Given the description of an element on the screen output the (x, y) to click on. 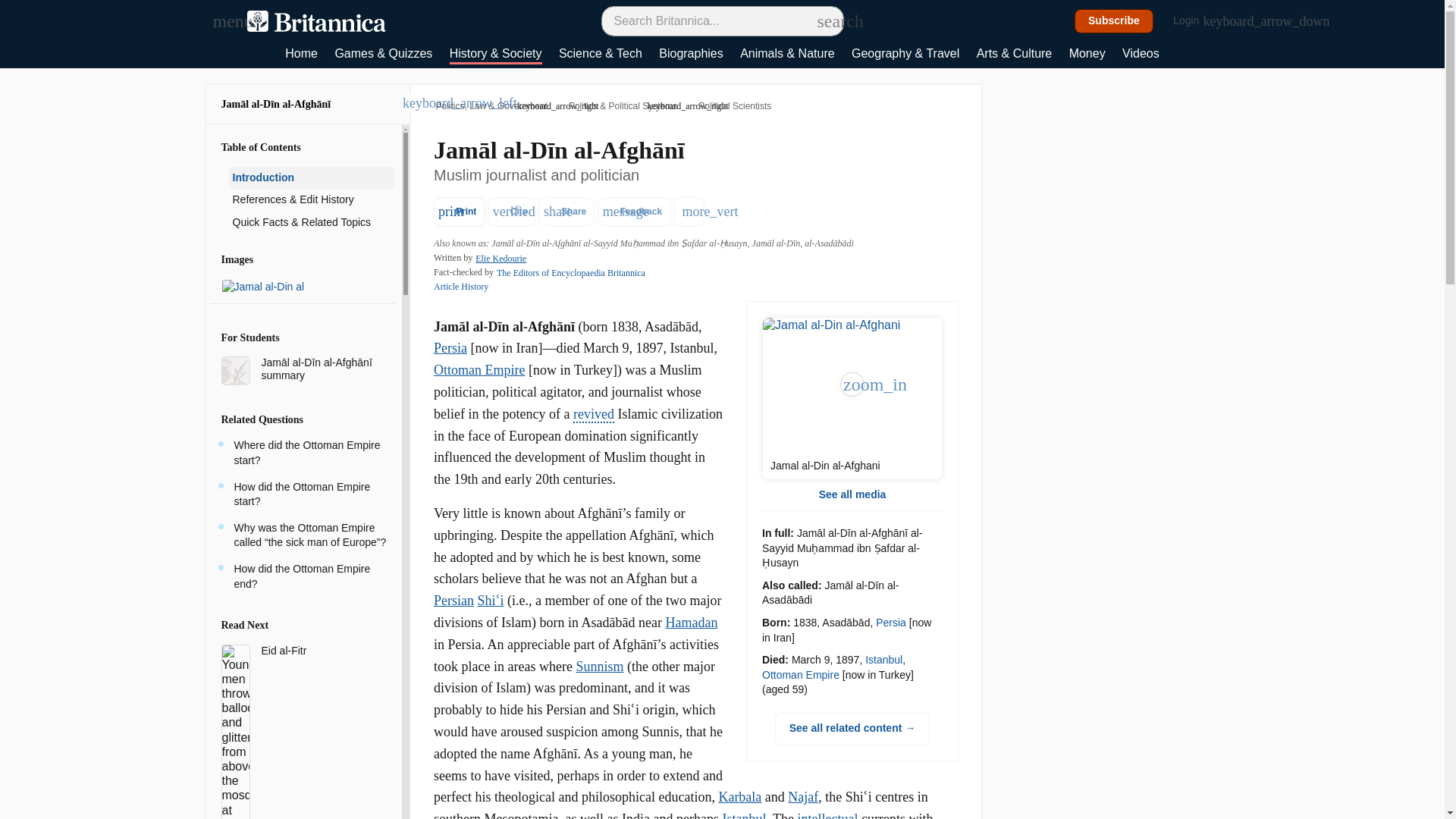
Login (1194, 20)
Subscribe (1114, 21)
Click here to search (825, 20)
